Given the description of an element on the screen output the (x, y) to click on. 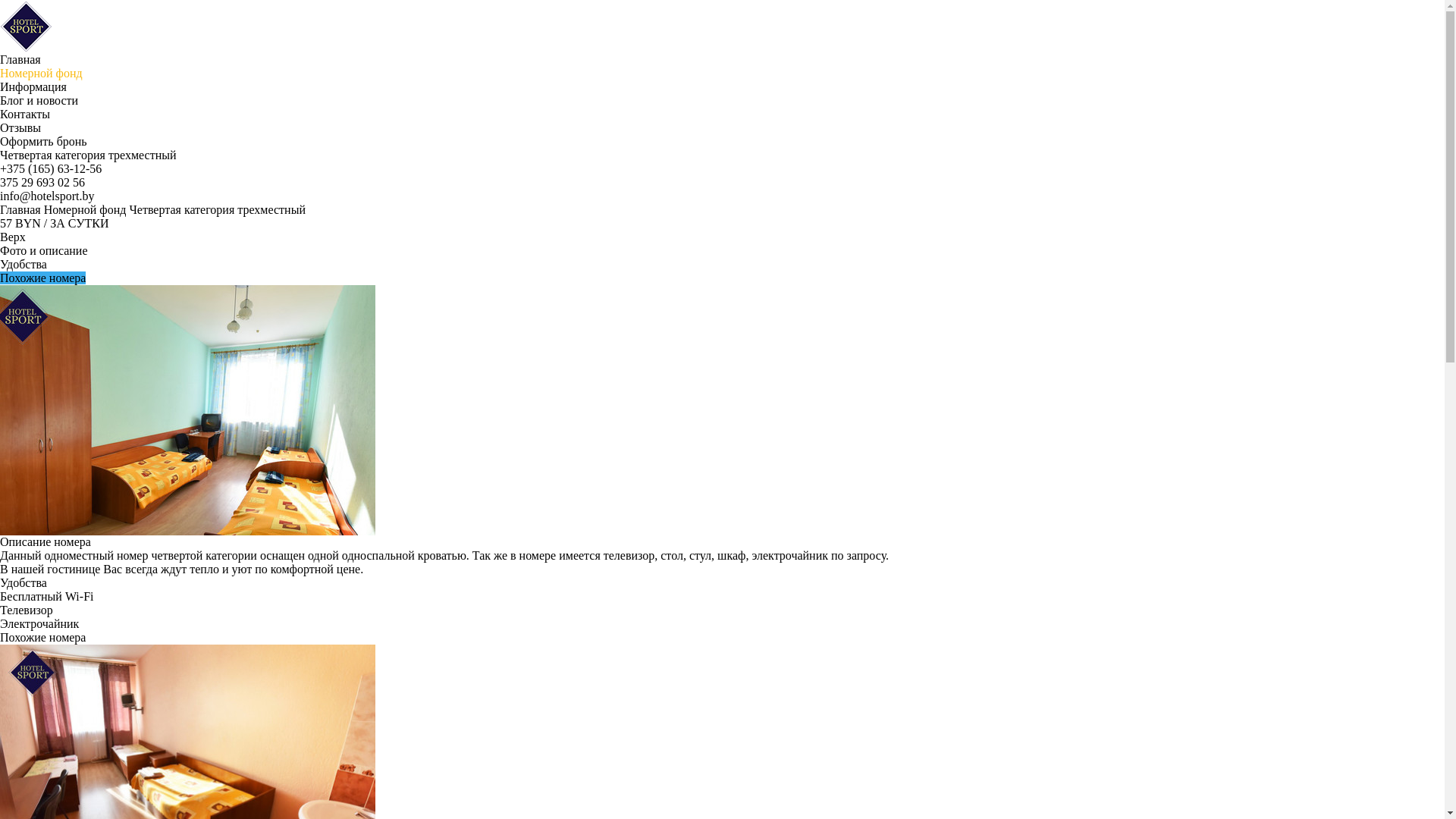
375 29 693 02 56 Element type: text (42, 181)
info@hotelsport.by Element type: text (47, 195)
+375 (165) 63-12-56 Element type: text (50, 168)
four-tripple-room_logo Element type: hover (187, 410)
